Given the description of an element on the screen output the (x, y) to click on. 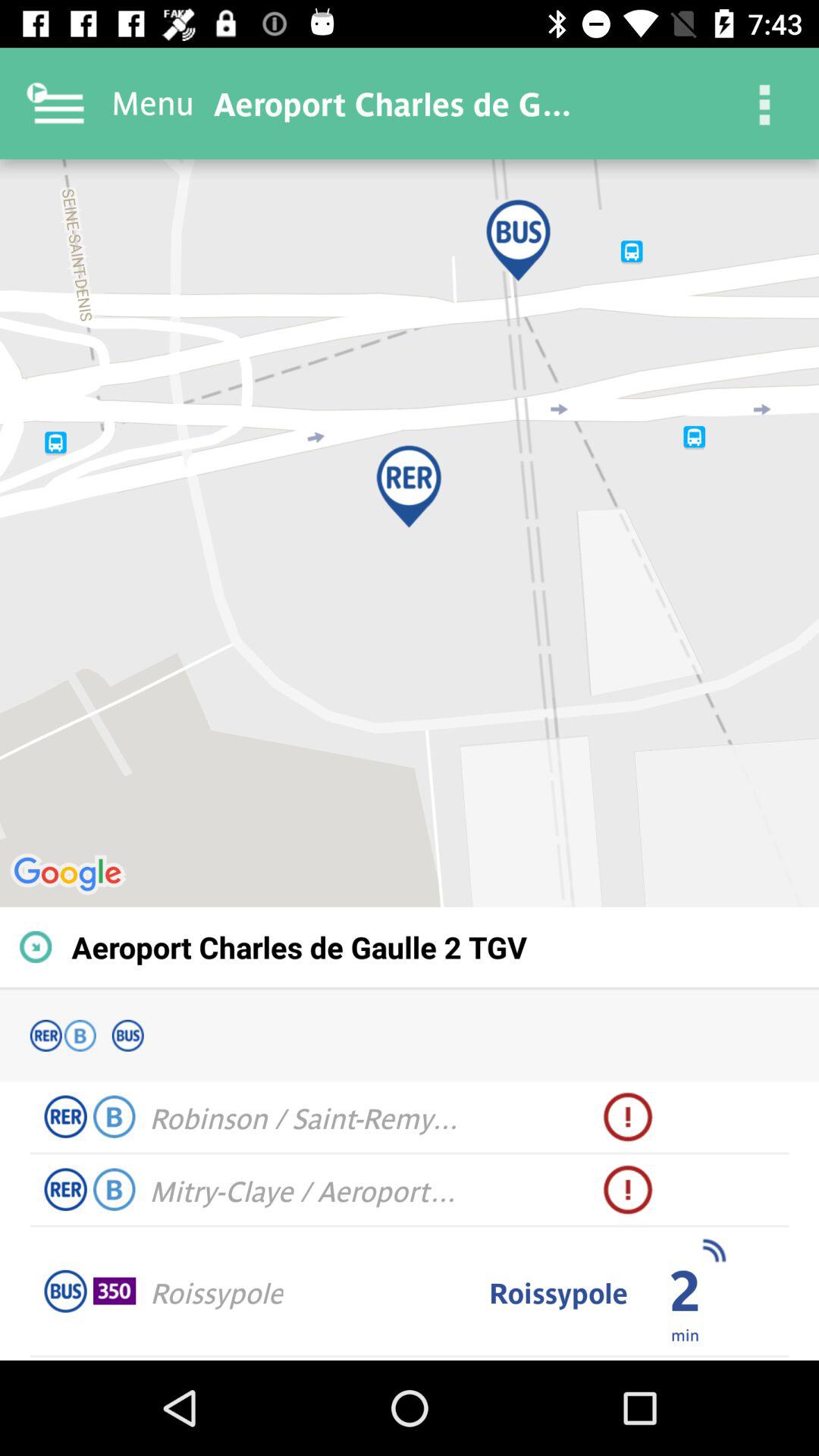
turn on the icon next to mitry claye aeroport (627, 1189)
